Given the description of an element on the screen output the (x, y) to click on. 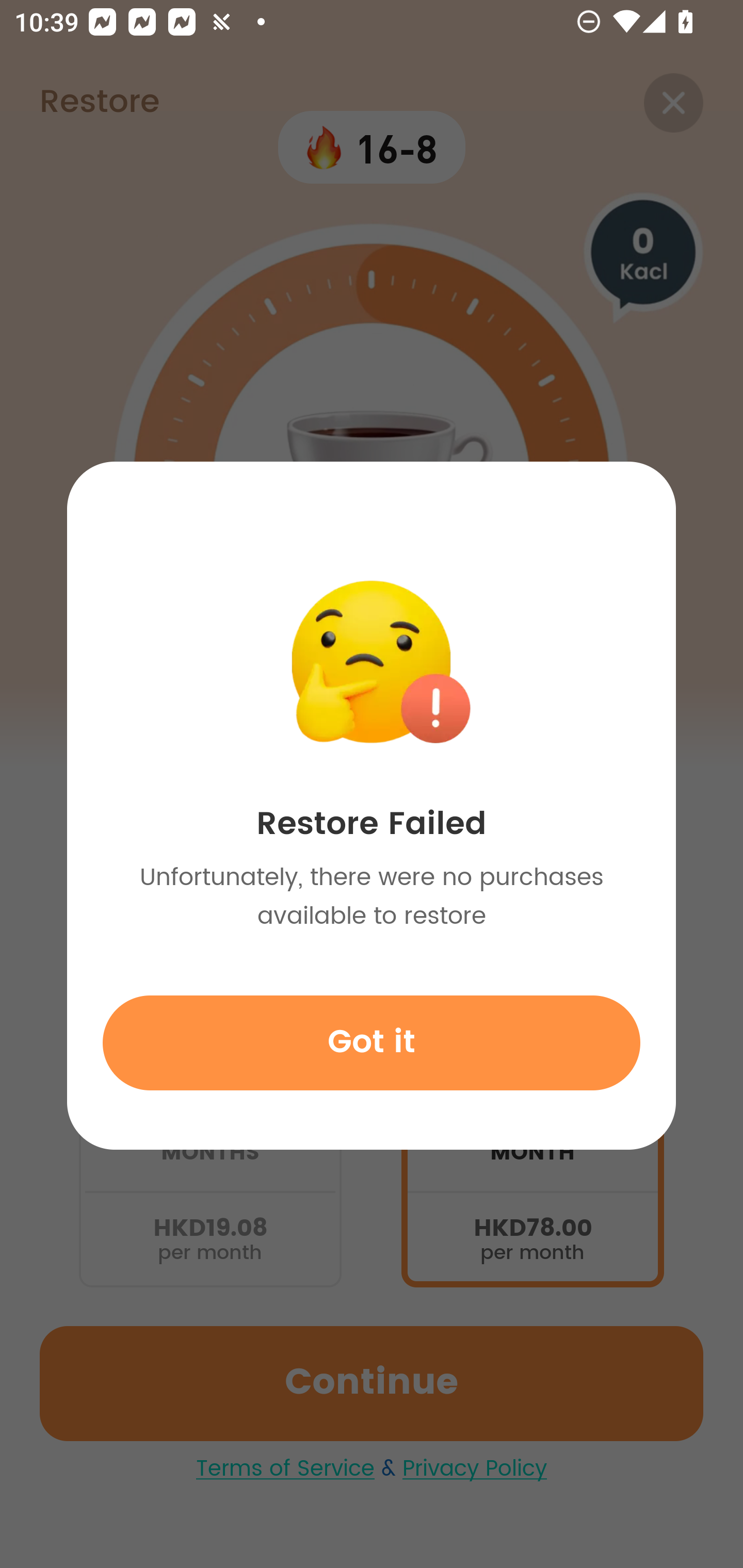
Got it (371, 1042)
